Given the description of an element on the screen output the (x, y) to click on. 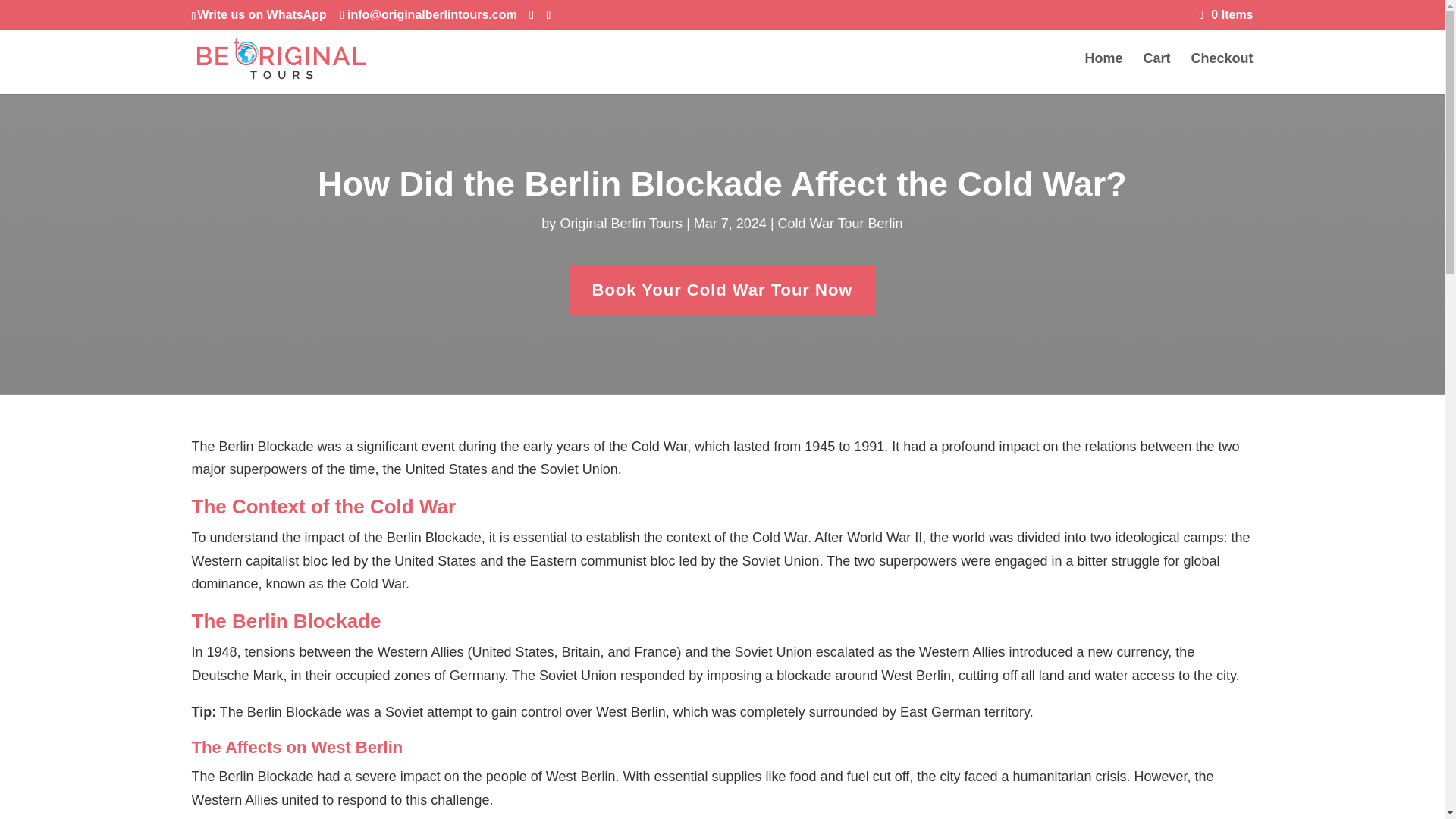
Posts by Original Berlin Tours (620, 223)
Home (1103, 73)
Checkout (1221, 73)
0 Items (1226, 14)
Write us on WhatsApp (261, 14)
Original Berlin Tours (620, 223)
Book Your Cold War Tour Now (722, 289)
Cold War Tour Berlin (839, 223)
